Given the description of an element on the screen output the (x, y) to click on. 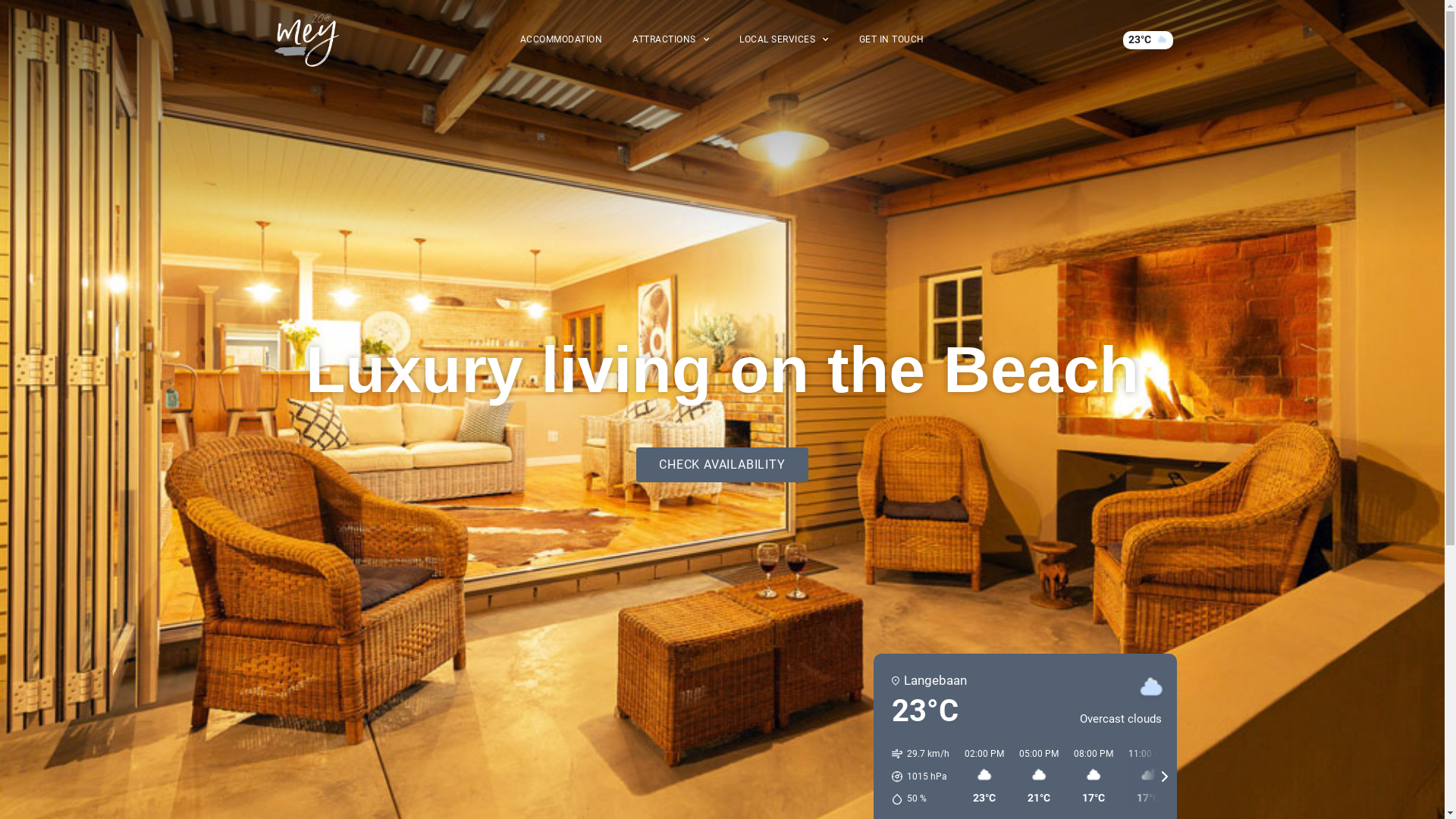
CHECK AVAILABILITY Element type: text (721, 464)
LOCAL SERVICES Element type: text (784, 38)
ATTRACTIONS Element type: text (670, 38)
GET IN TOUCH Element type: text (891, 38)
ACCOMMODATION Element type: text (561, 38)
